Given the description of an element on the screen output the (x, y) to click on. 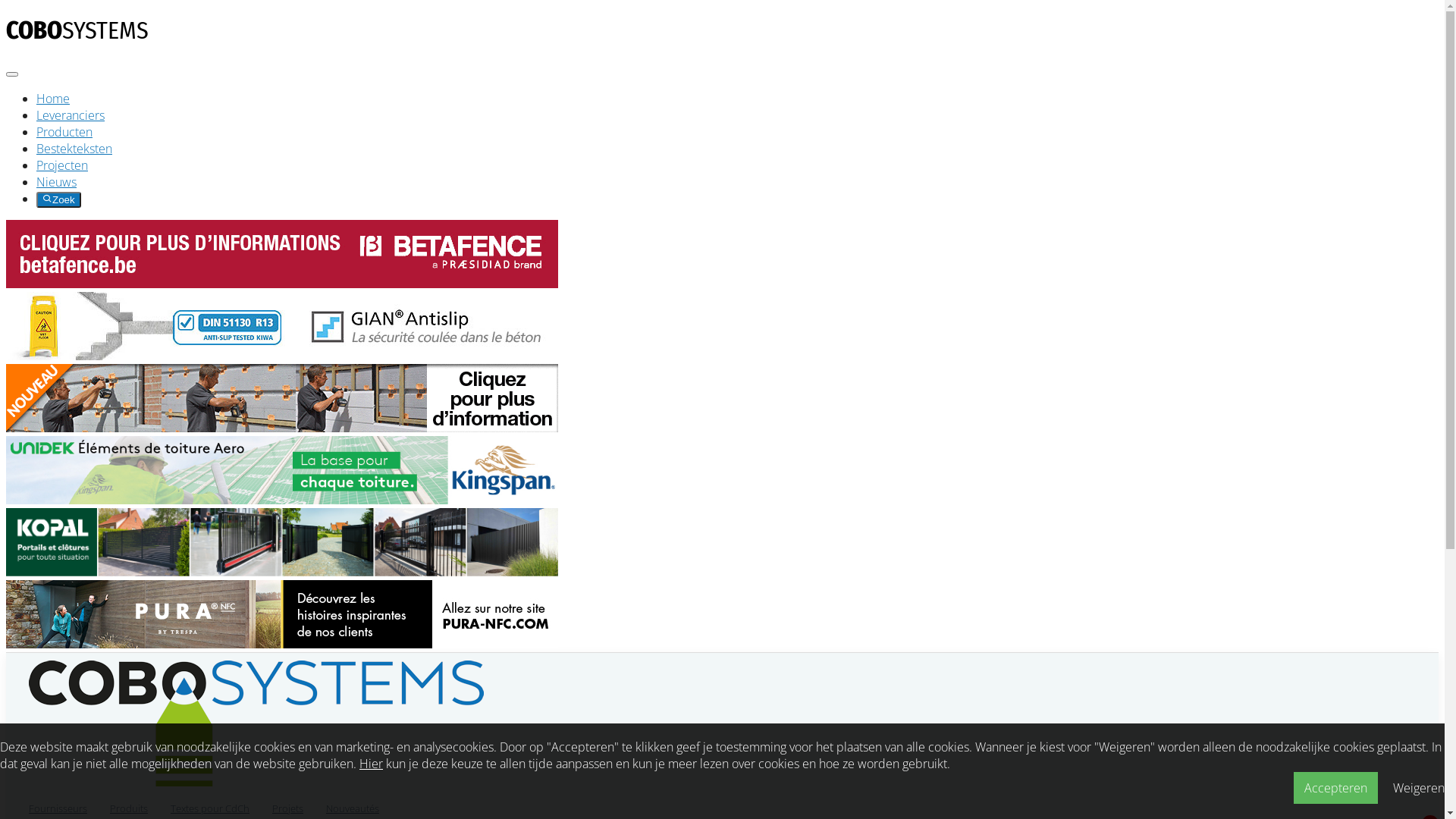
Projecten Element type: text (61, 164)
Accepteren Element type: text (1335, 787)
Bestekteksten Element type: text (74, 148)
Nieuws Element type: text (56, 181)
Producten Element type: text (64, 131)
Home Element type: text (52, 98)
Leveranciers Element type: text (70, 114)
Zoek Element type: text (58, 199)
Hier Element type: text (370, 763)
Weigeren Element type: text (1418, 787)
